Given the description of an element on the screen output the (x, y) to click on. 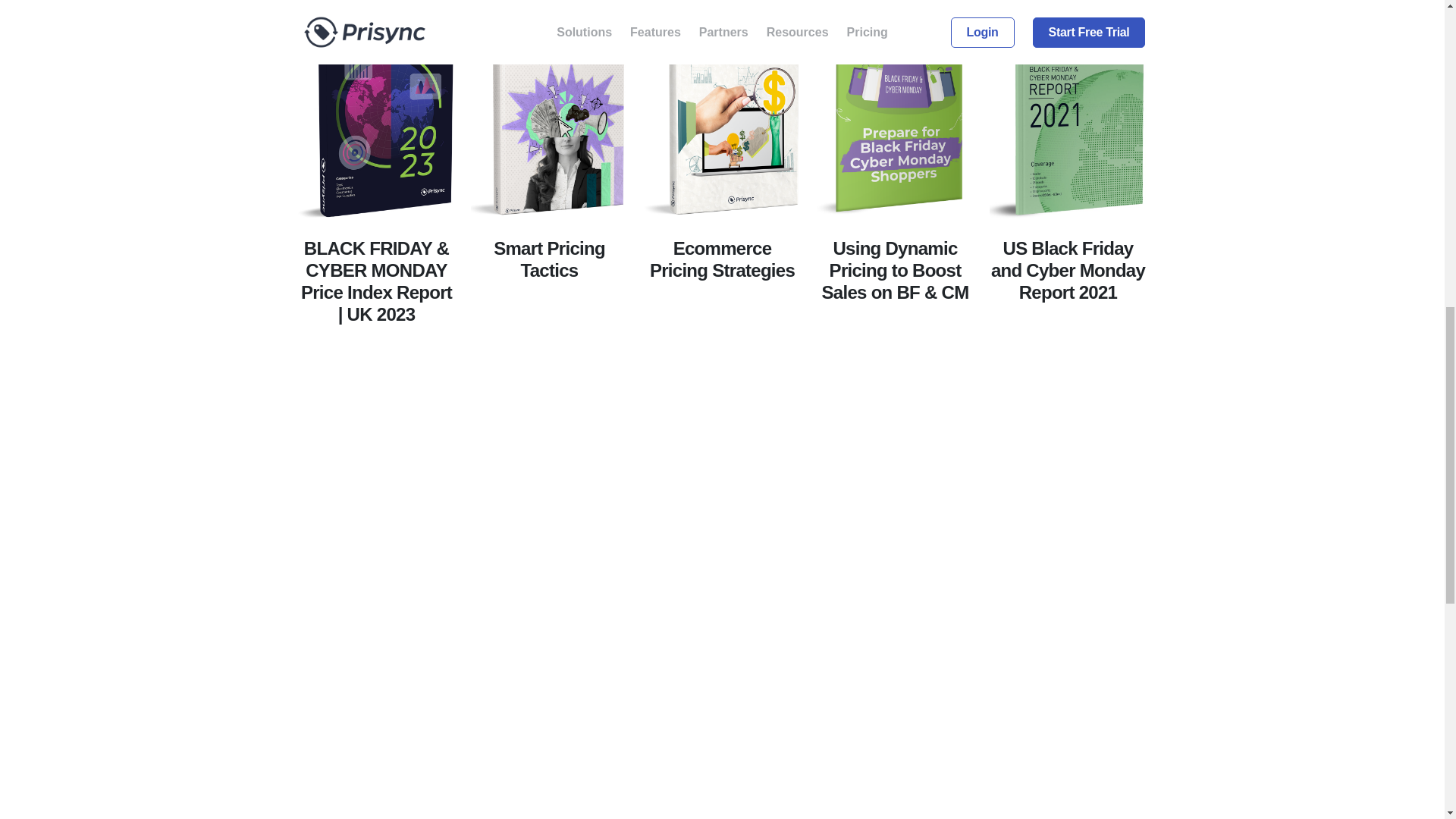
Ecommerce Pricing Strategies (721, 323)
Smart Pricing Tactics (548, 323)
